Given the description of an element on the screen output the (x, y) to click on. 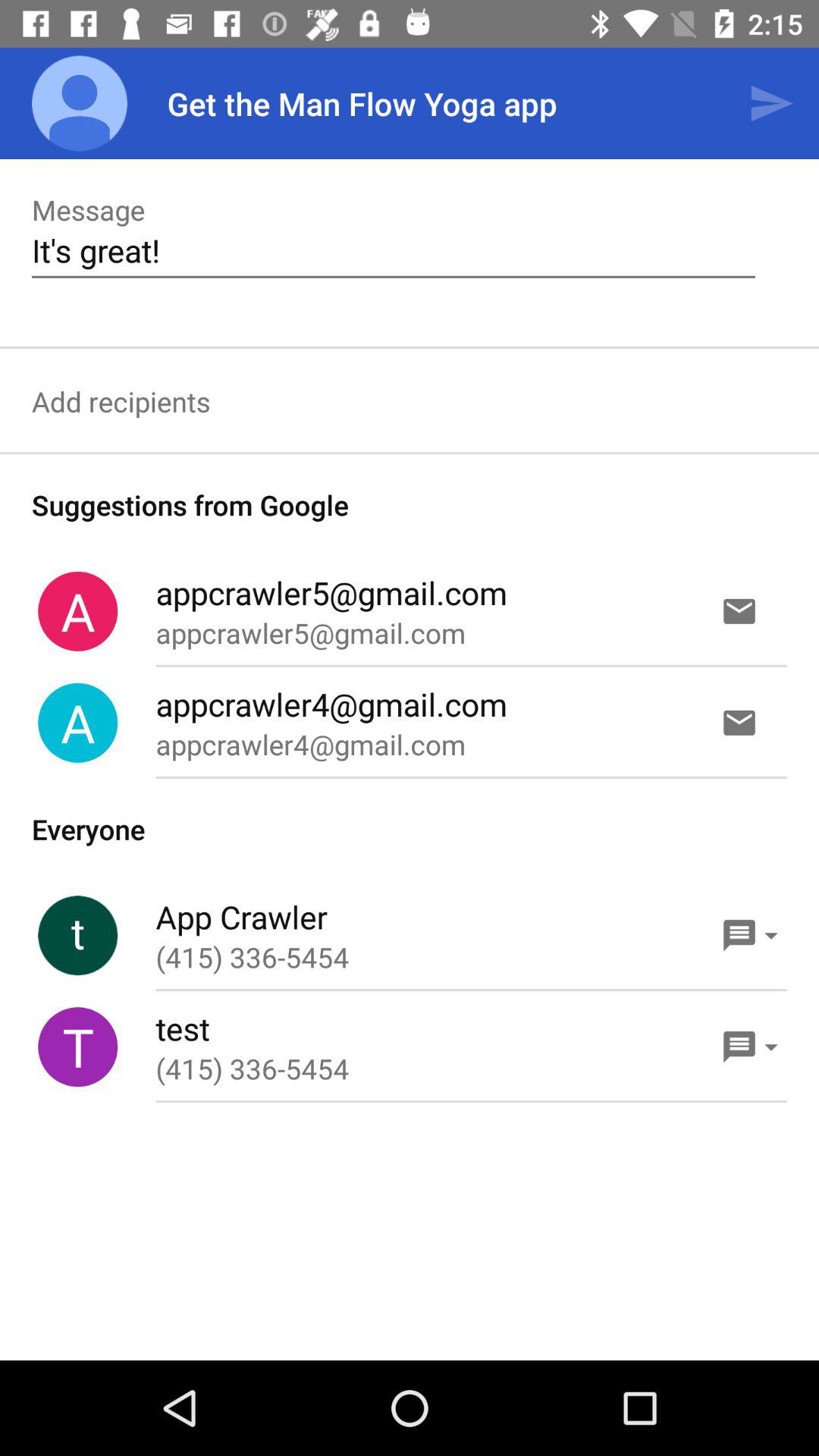
launch the item above the message (79, 103)
